Given the description of an element on the screen output the (x, y) to click on. 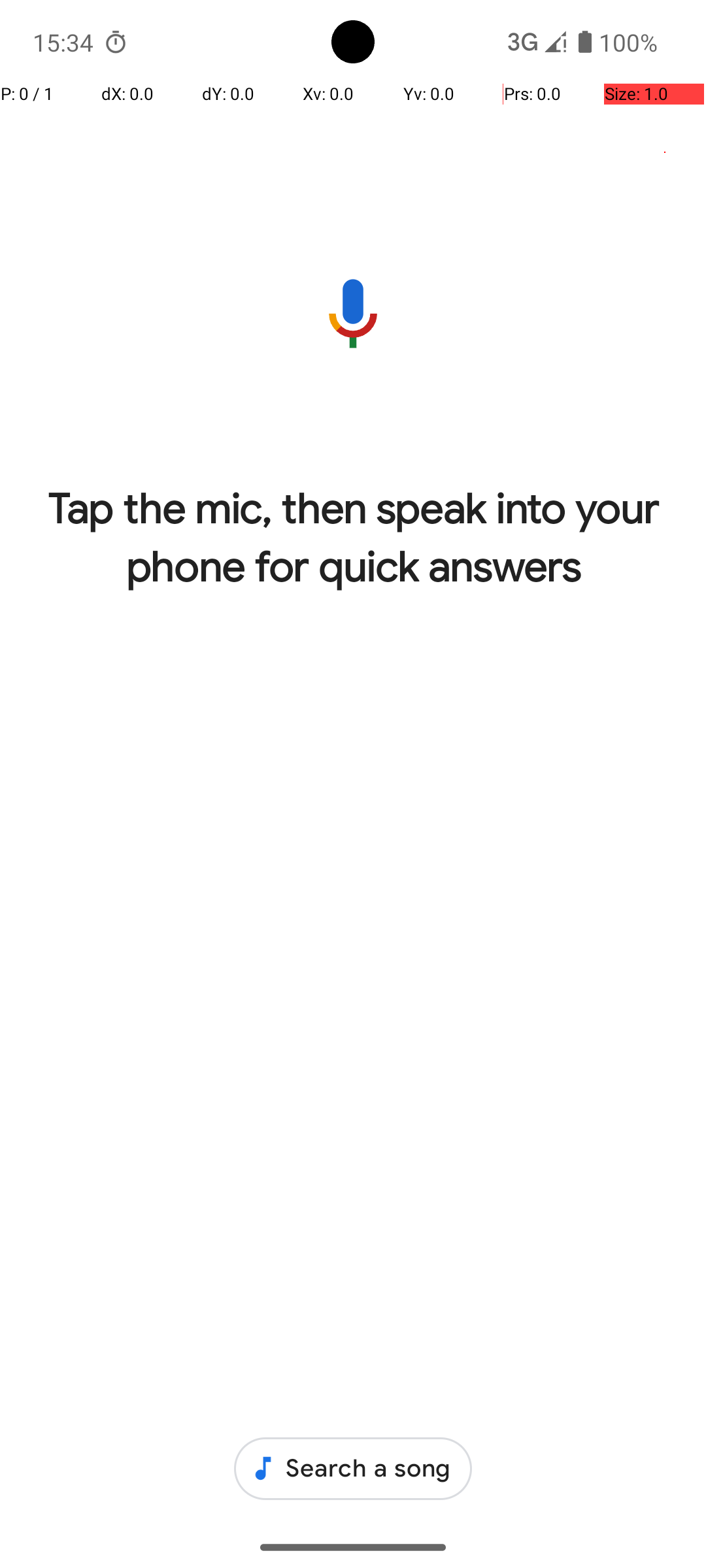
Speak into the phone to ask me something. Element type: android.view.View (352, 313)
Tap the mic, then speak into your phone for quick answers Element type: android.widget.TextView (353, 538)
Search a song Element type: android.widget.Button (352, 1468)
